Given the description of an element on the screen output the (x, y) to click on. 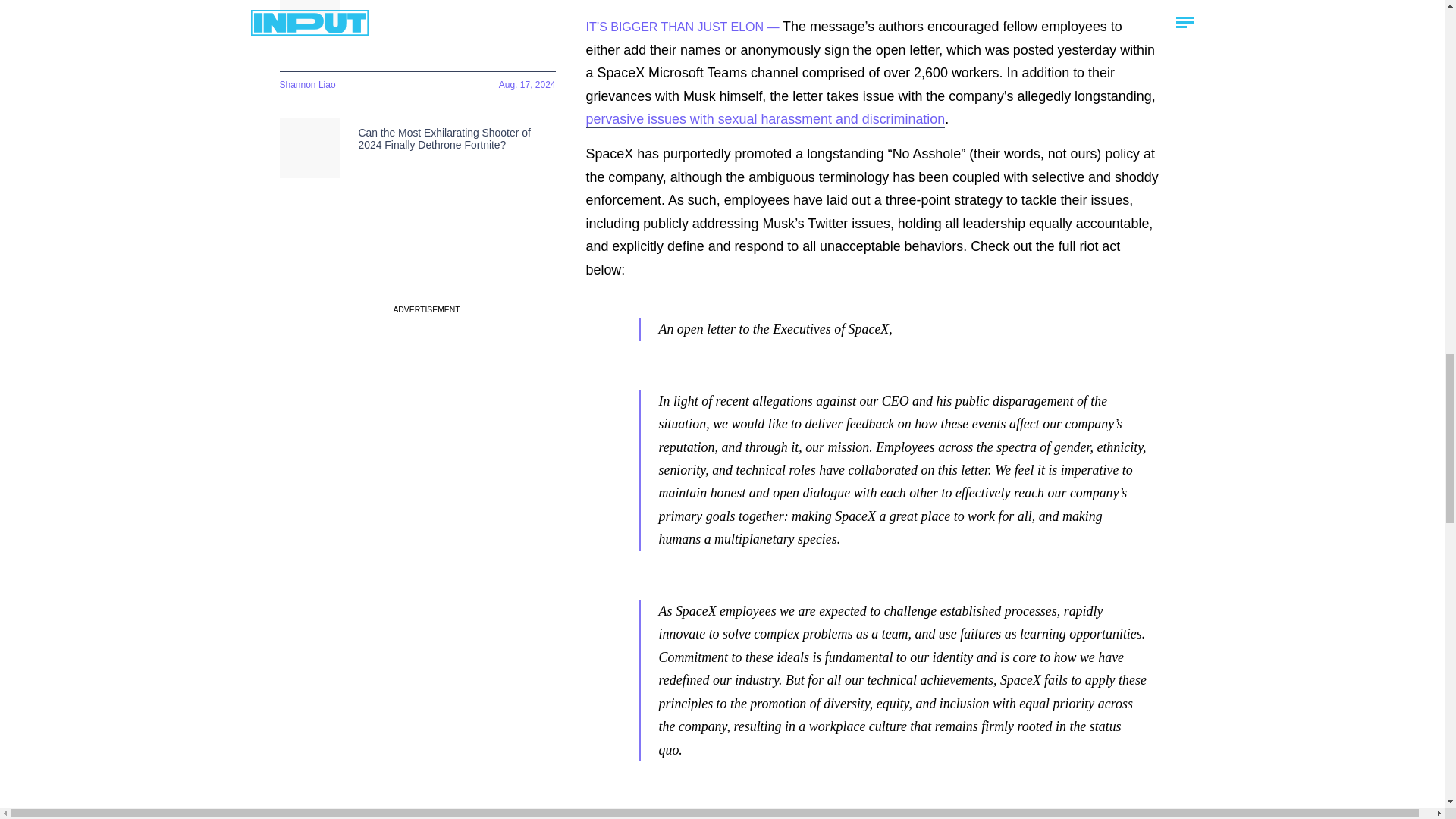
pervasive issues with sexual harassment and discrimination (764, 119)
